Given the description of an element on the screen output the (x, y) to click on. 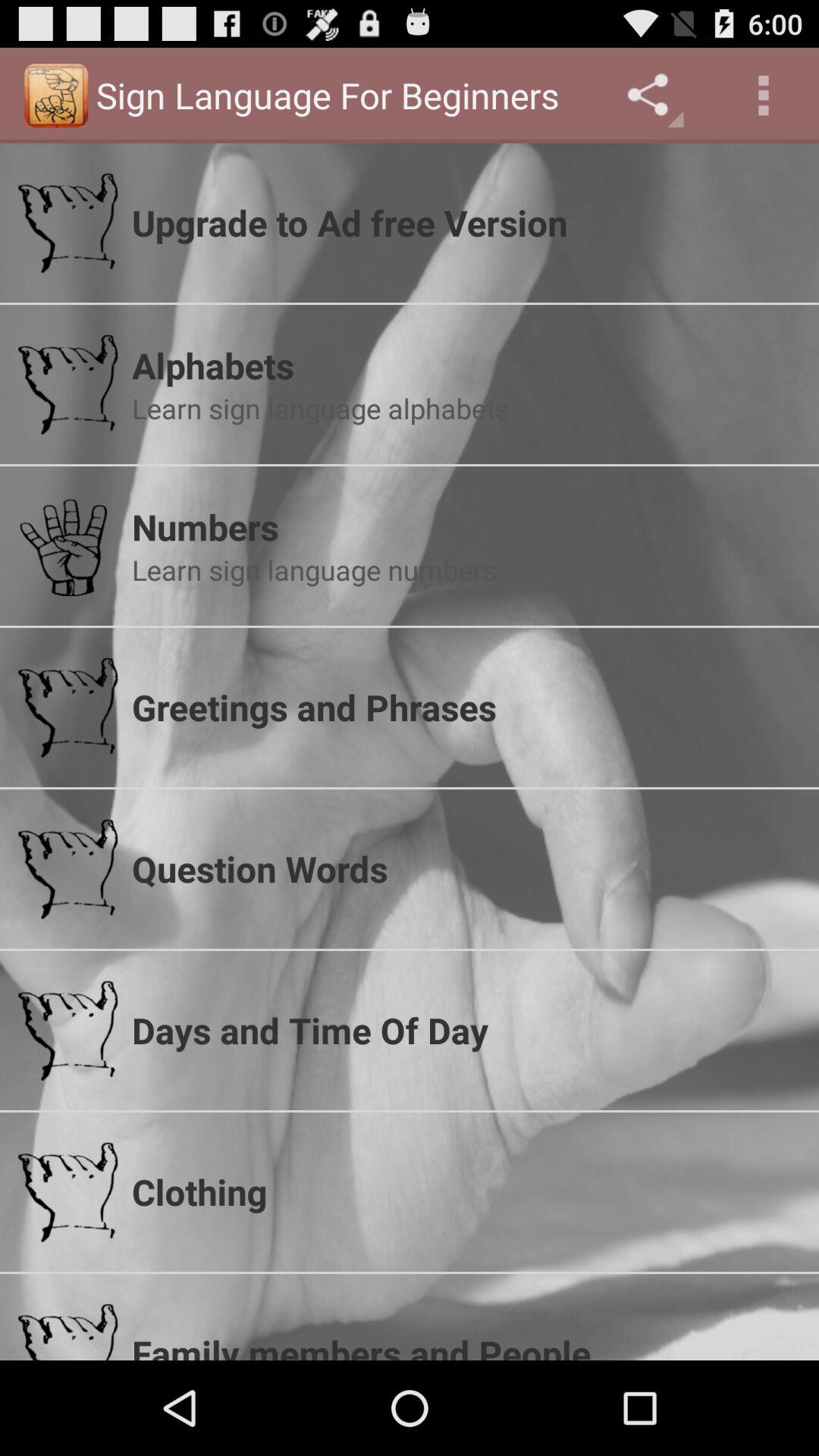
turn on clothing icon (465, 1191)
